Given the description of an element on the screen output the (x, y) to click on. 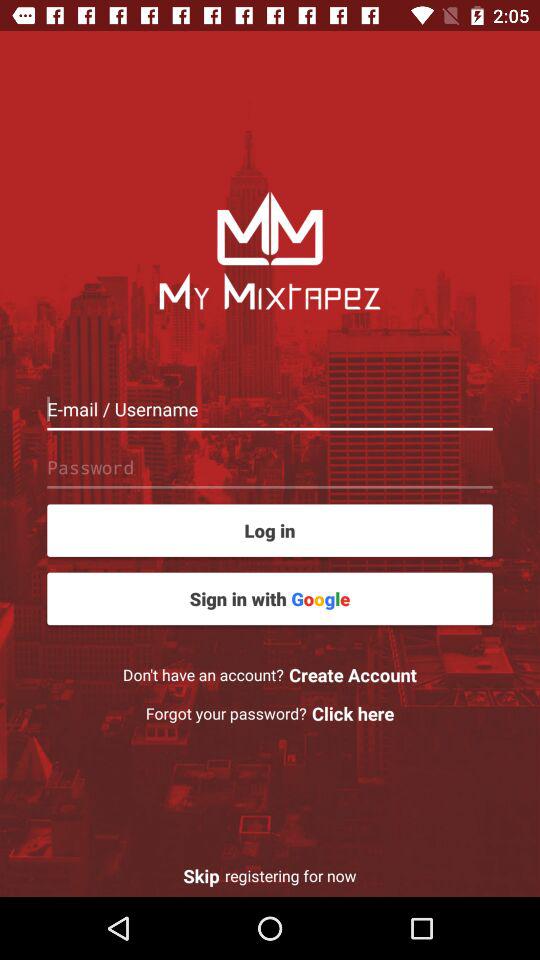
enter password (270, 467)
